Given the description of an element on the screen output the (x, y) to click on. 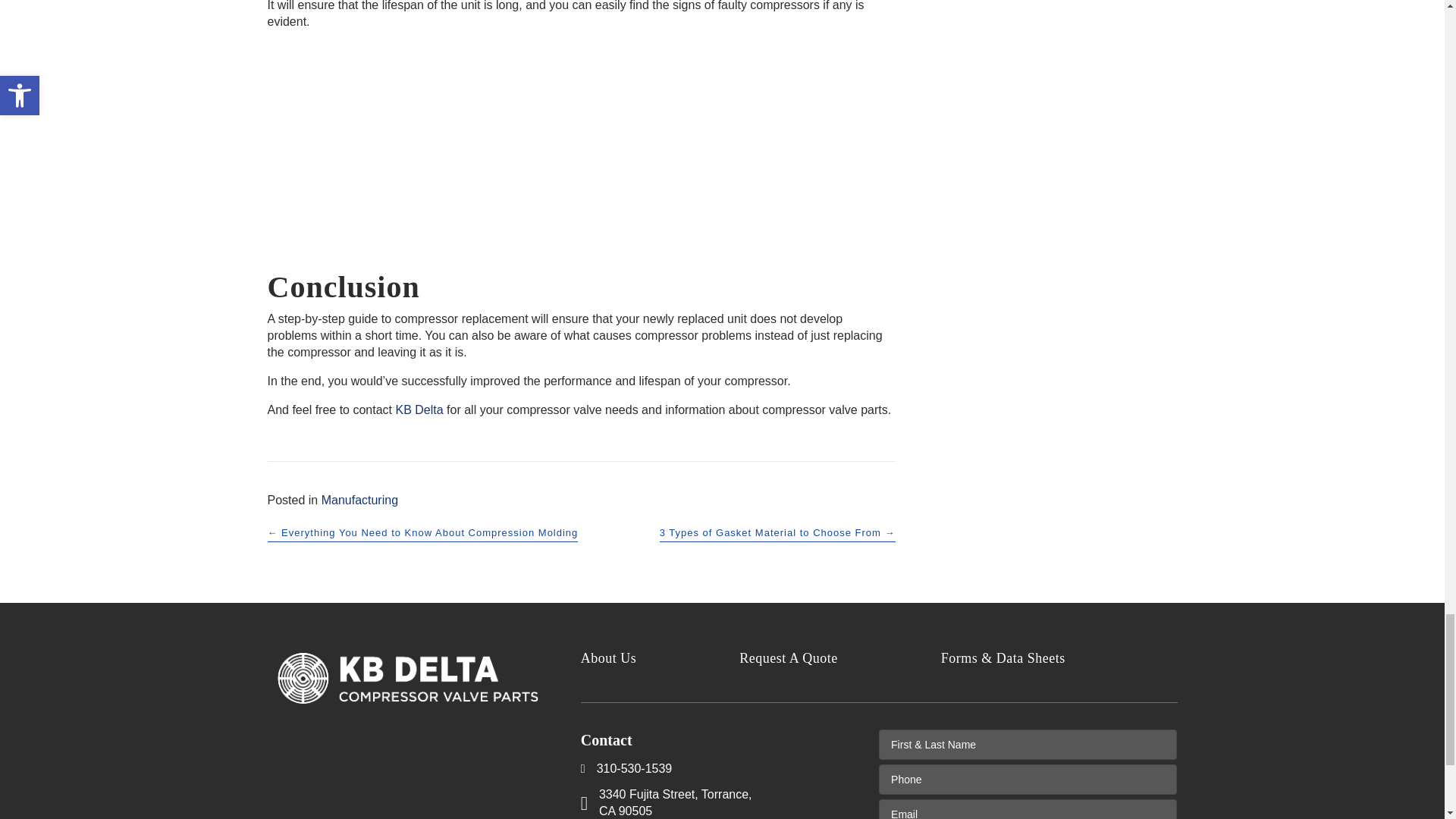
Manufacturing (359, 499)
About Us (659, 657)
Request A Quote (839, 657)
KB Delta (420, 409)
